Given the description of an element on the screen output the (x, y) to click on. 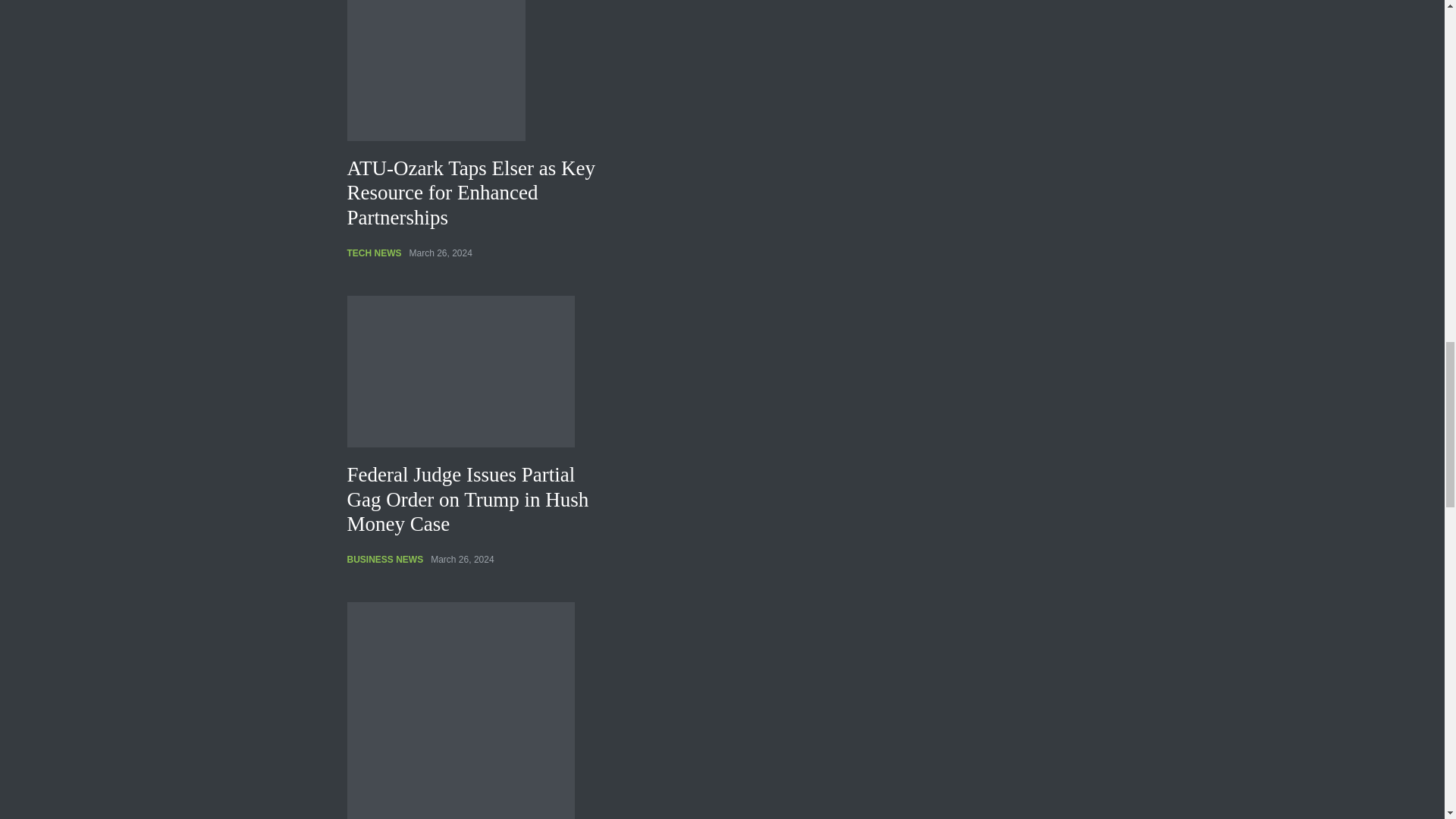
BUSINESS NEWS (385, 559)
TECH NEWS (374, 253)
